Given the description of an element on the screen output the (x, y) to click on. 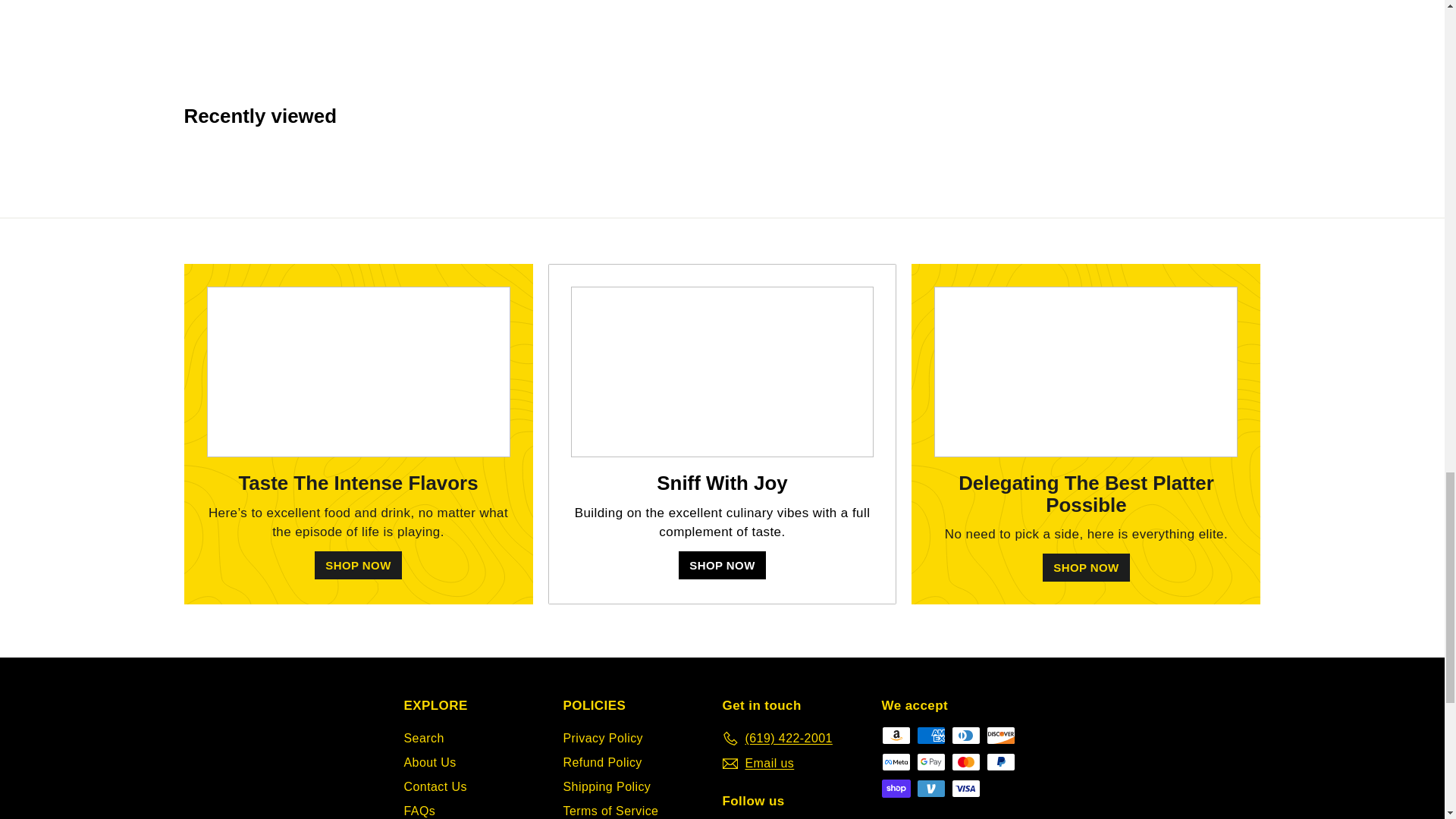
Diners Club (964, 735)
Mastercard (964, 761)
Meta Pay (895, 761)
Amazon (895, 735)
Google Pay (929, 761)
Discover (999, 735)
American Express (929, 735)
